Given the description of an element on the screen output the (x, y) to click on. 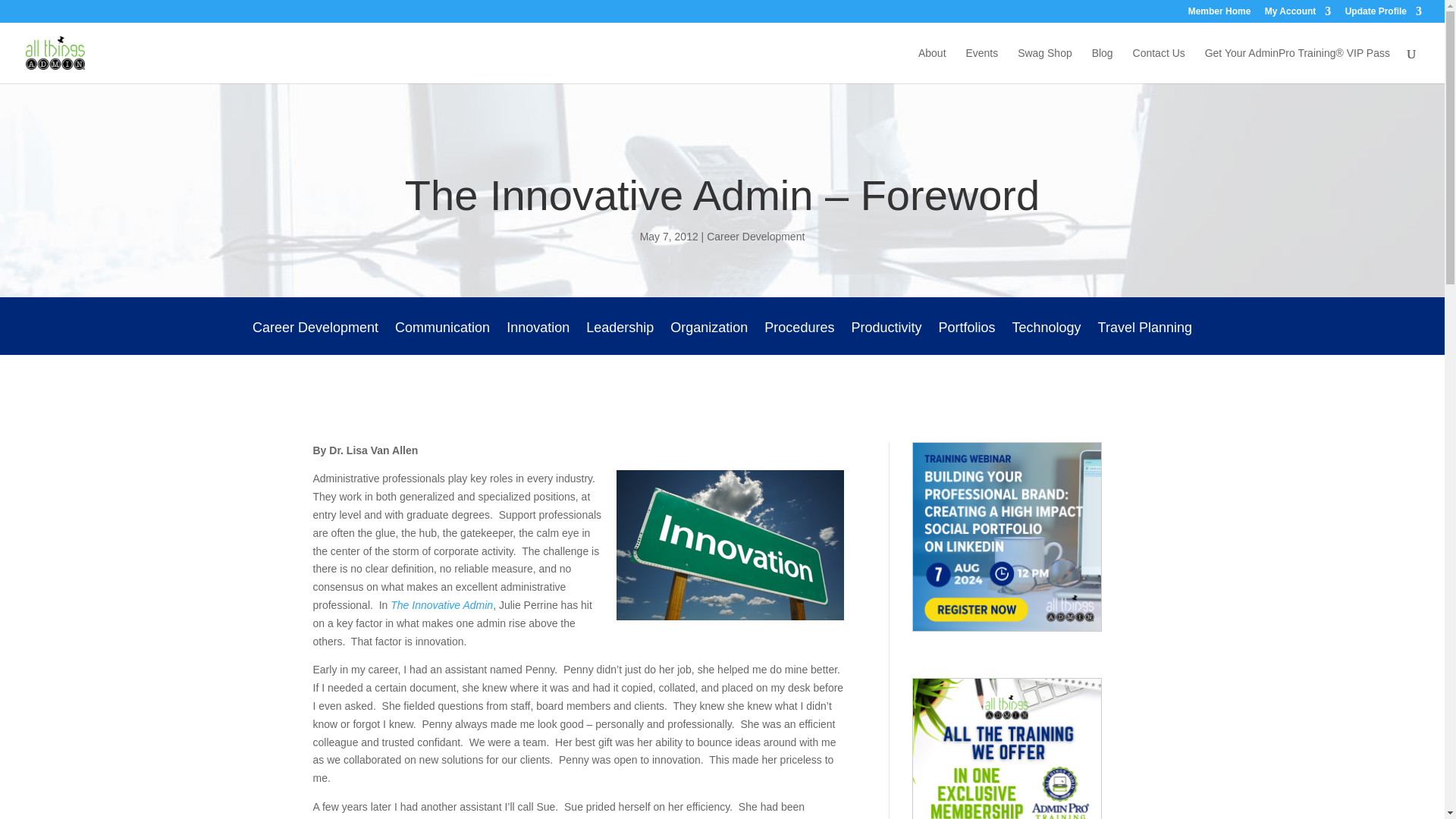
innovation (729, 544)
Innovation (537, 338)
Contact Us (1158, 65)
Procedures (799, 338)
Organization (708, 338)
Communication (441, 338)
Portfolios (965, 338)
Travel Planning (1144, 338)
Member Home (1219, 14)
Leadership (619, 338)
